Given the description of an element on the screen output the (x, y) to click on. 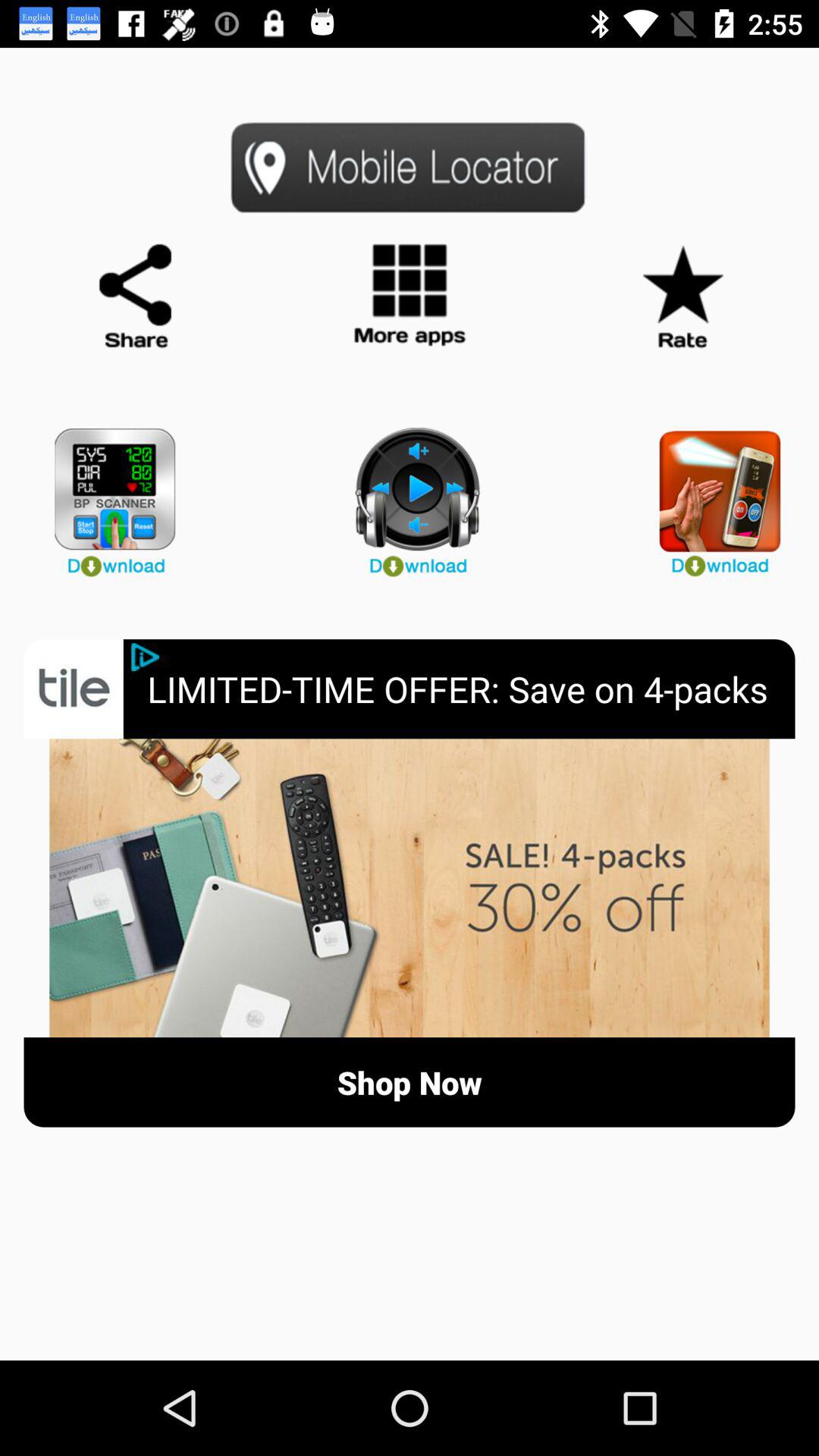
share page (136, 296)
